Given the description of an element on the screen output the (x, y) to click on. 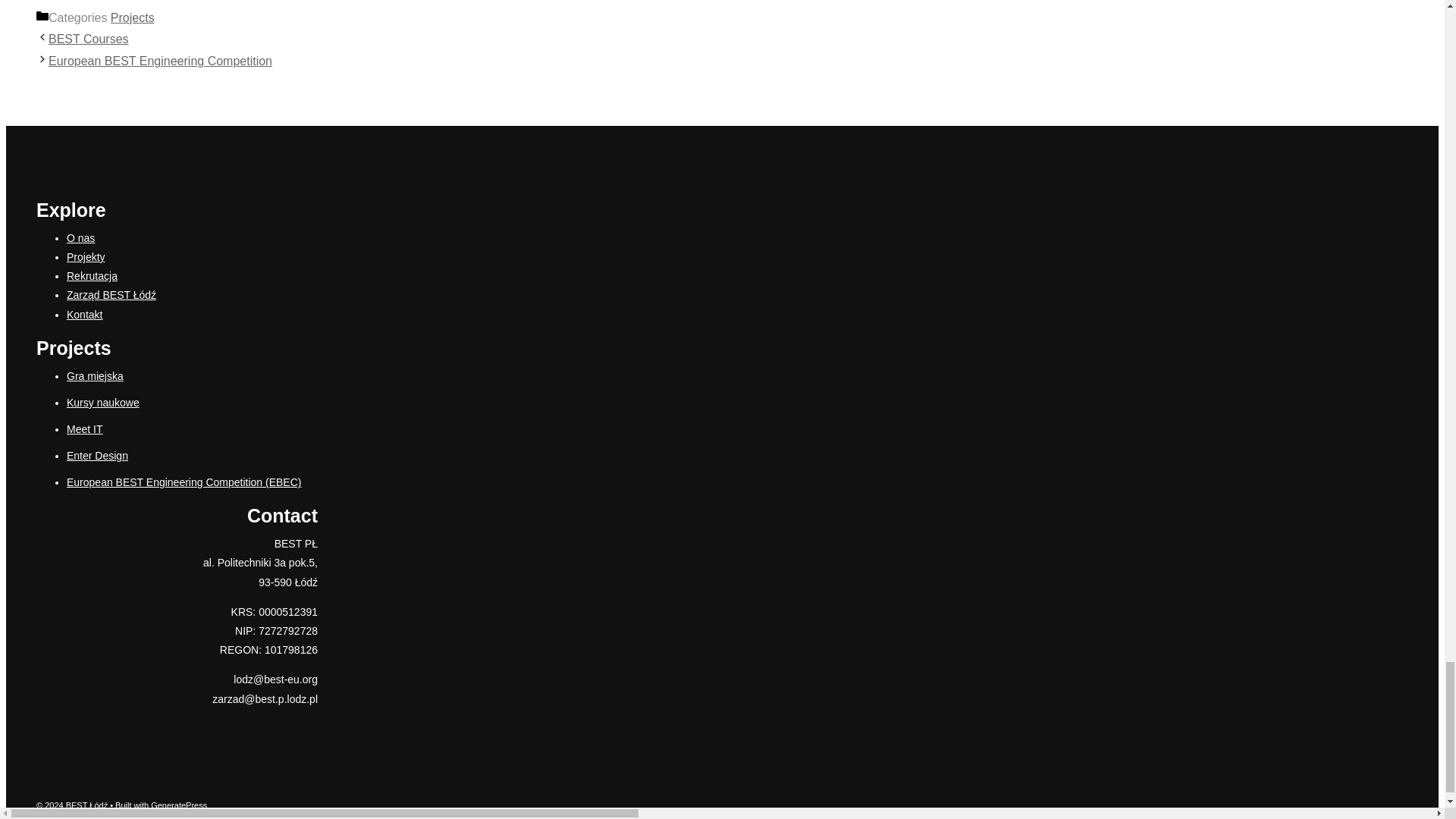
Kursy naukowe (102, 402)
Enter Design (97, 455)
Rekrutacja (91, 275)
Meet IT (83, 428)
O nas (80, 237)
GeneratePress (178, 804)
Projekty (85, 256)
Gra miejska (94, 376)
Kontakt (83, 314)
BEST Courses (88, 38)
European BEST Engineering Competition (160, 60)
Projects (132, 17)
